Given the description of an element on the screen output the (x, y) to click on. 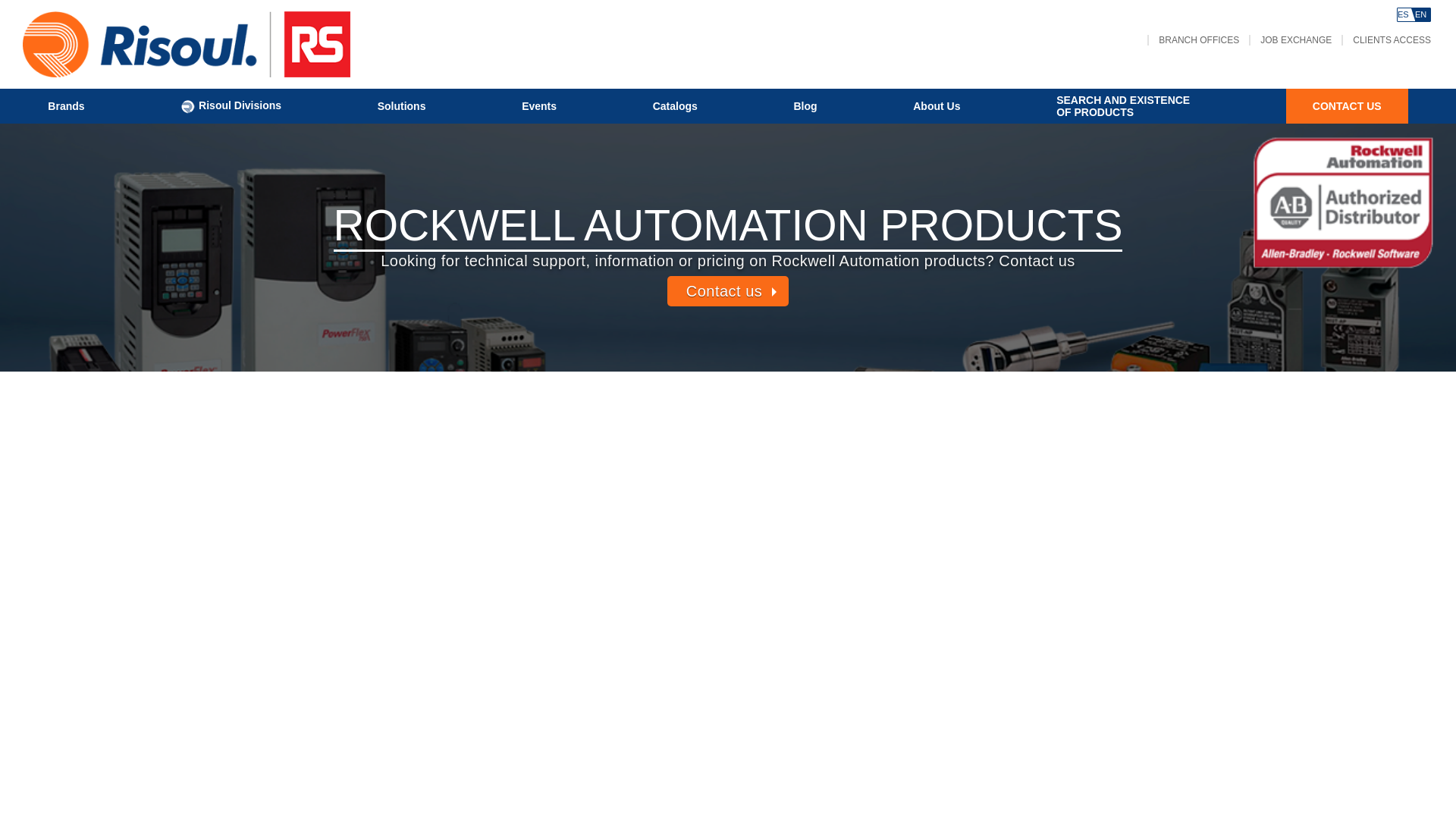
ES (1123, 105)
EN (1404, 14)
Events (1422, 14)
About Us (538, 105)
Solutions (935, 105)
CONTACT US (401, 105)
Blog (1347, 105)
Catalogs (804, 105)
BRANCH OFFICES (674, 105)
